Given the description of an element on the screen output the (x, y) to click on. 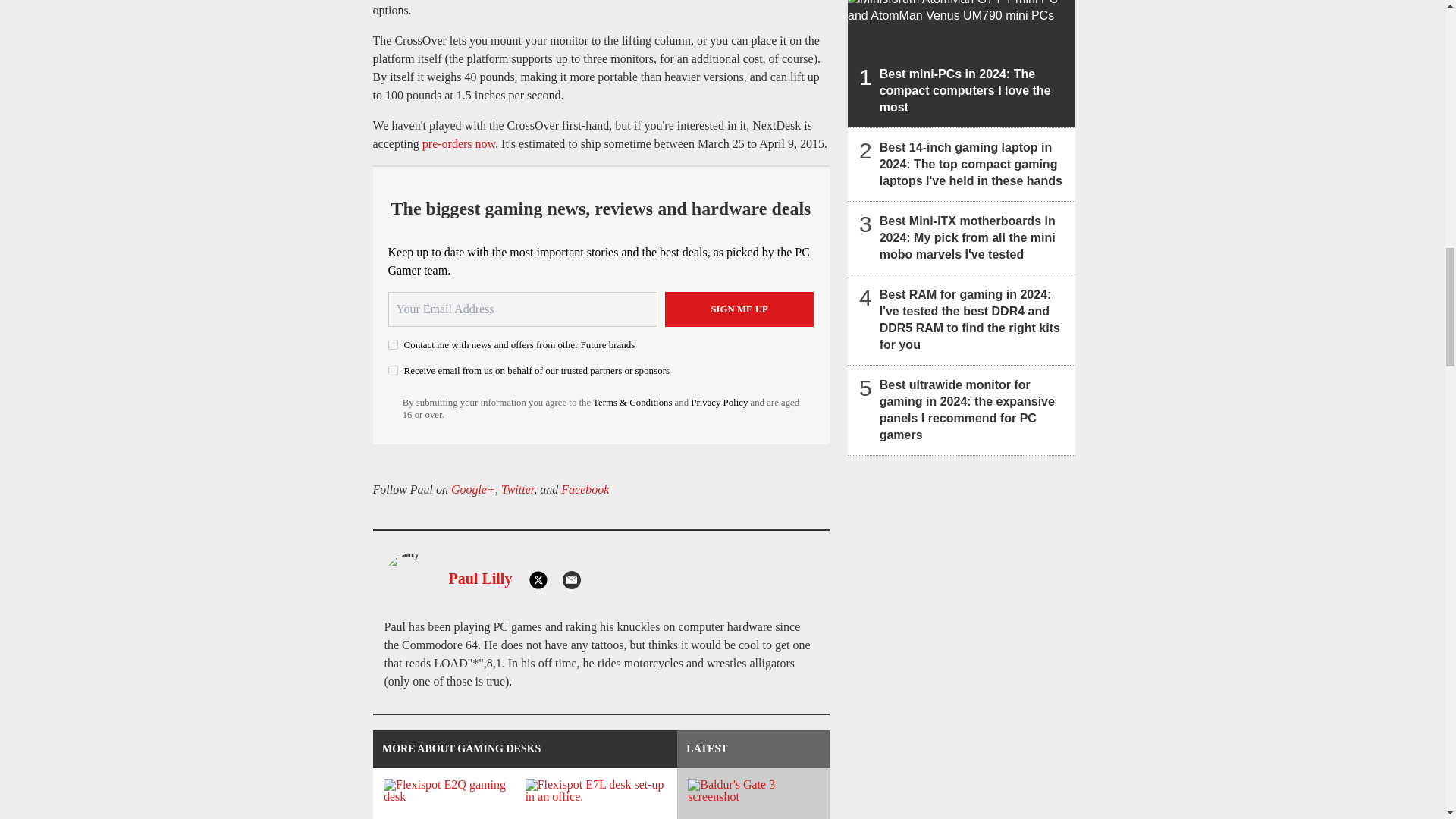
Sign me up (739, 308)
on (392, 370)
on (392, 344)
